Given the description of an element on the screen output the (x, y) to click on. 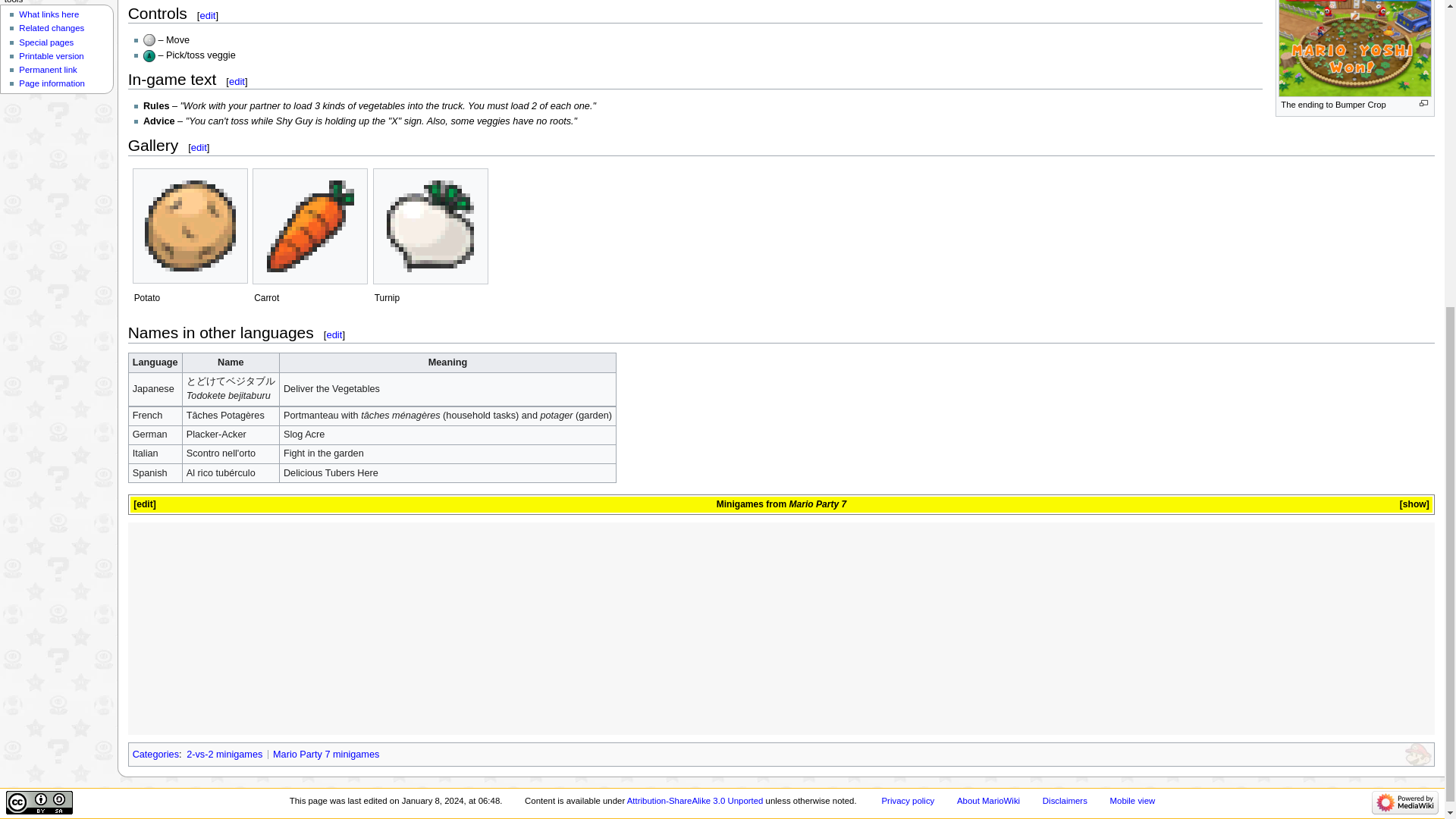
show (1414, 503)
Edit section: Controls (207, 15)
edit (144, 503)
edit (236, 81)
Minigames (739, 503)
Control Stick (148, 39)
edit (207, 15)
Enlarge (1423, 103)
Mario Party 7 (818, 503)
A Button (148, 55)
